Given the description of an element on the screen output the (x, y) to click on. 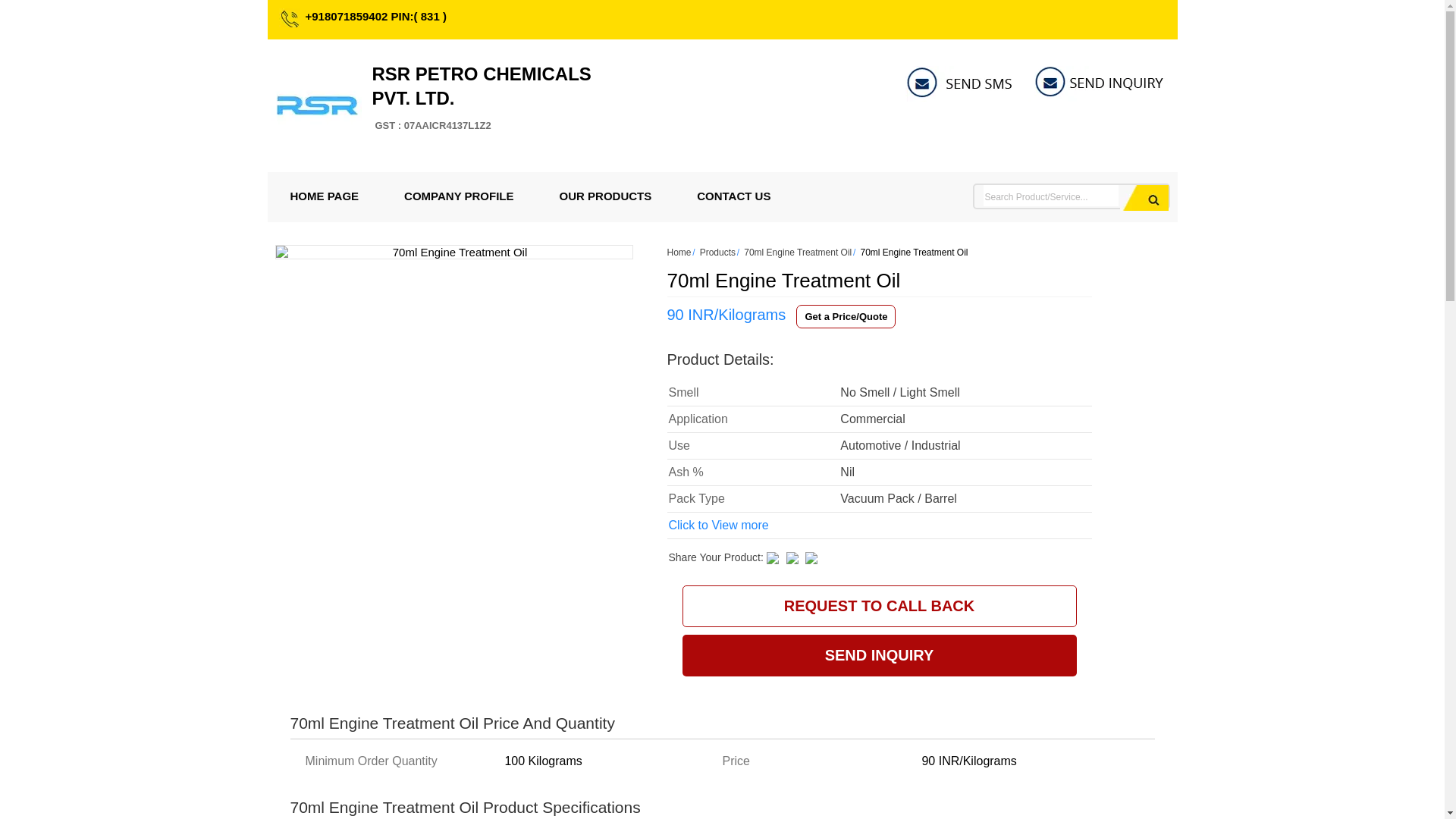
OUR PRODUCTS (606, 195)
COMPANY PROFILE (458, 195)
submit (1143, 197)
HOME PAGE (481, 97)
submit (323, 195)
